Given the description of an element on the screen output the (x, y) to click on. 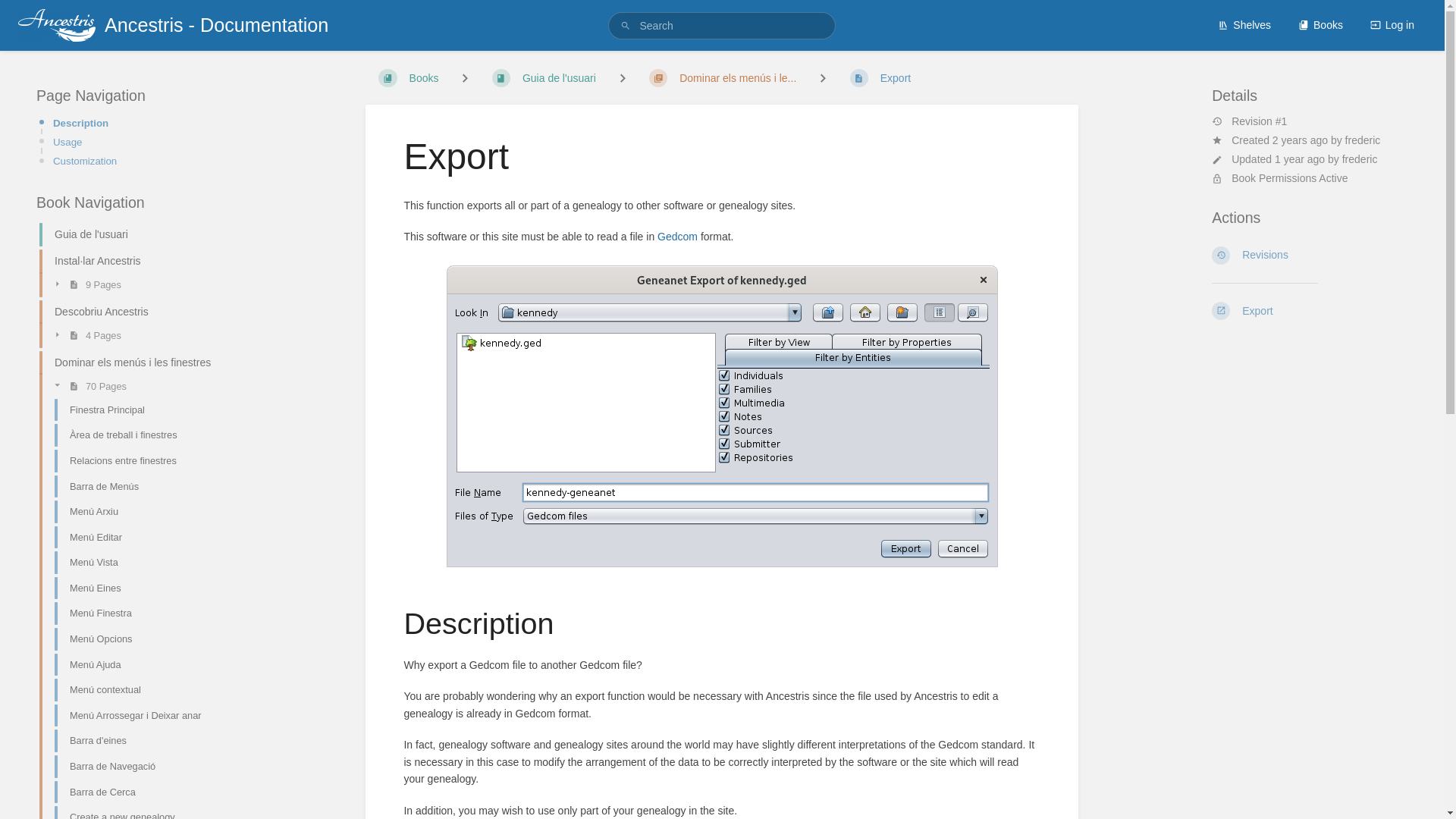
Usage (142, 141)
Customization (142, 160)
Description (142, 123)
Descobriu Ancestris (134, 311)
Finestra Principal (141, 410)
Ancestris - Documentation (172, 24)
Relacions entre finestres (141, 460)
Books (1320, 24)
Sun, Nov 14, 2021 2:32 PM (1299, 140)
Gedcom (677, 236)
